Given the description of an element on the screen output the (x, y) to click on. 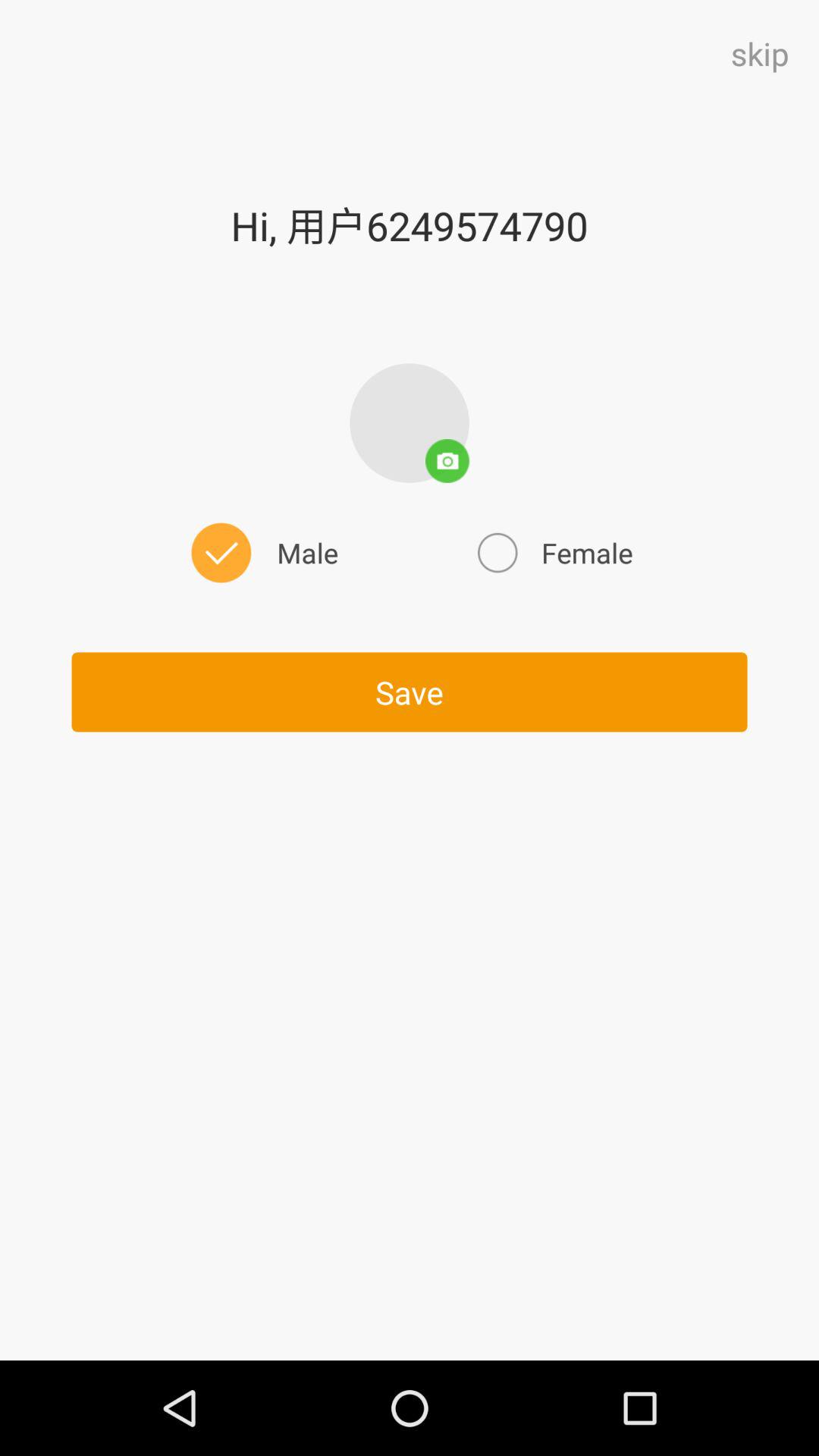
press the skip item (759, 53)
